Given the description of an element on the screen output the (x, y) to click on. 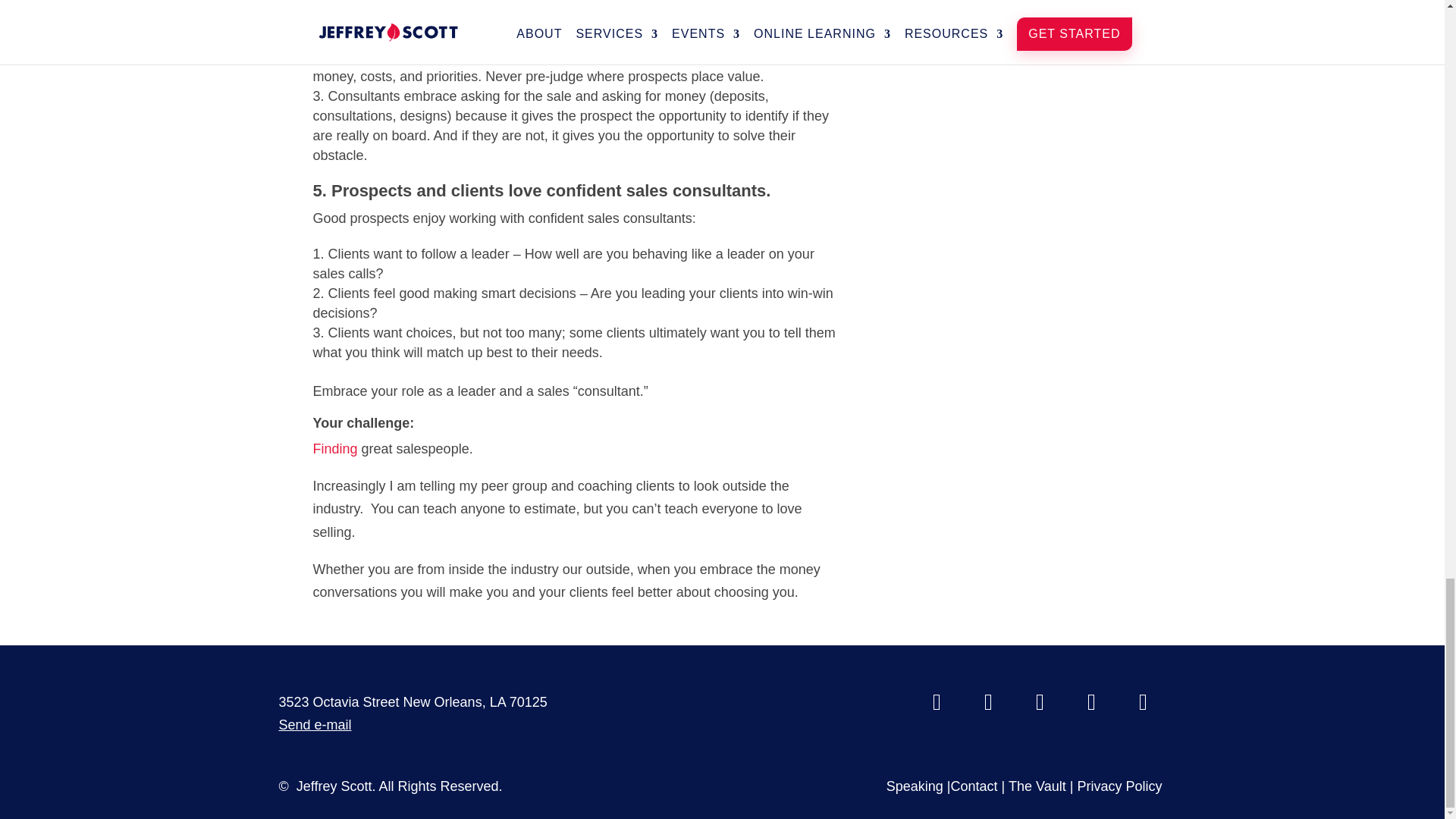
Follow on X (987, 701)
Follow on Youtube (1090, 701)
Follow on Instagram (1142, 701)
Follow on Facebook (936, 701)
Follow on LinkedIn (1039, 701)
Finding (334, 448)
